Given the description of an element on the screen output the (x, y) to click on. 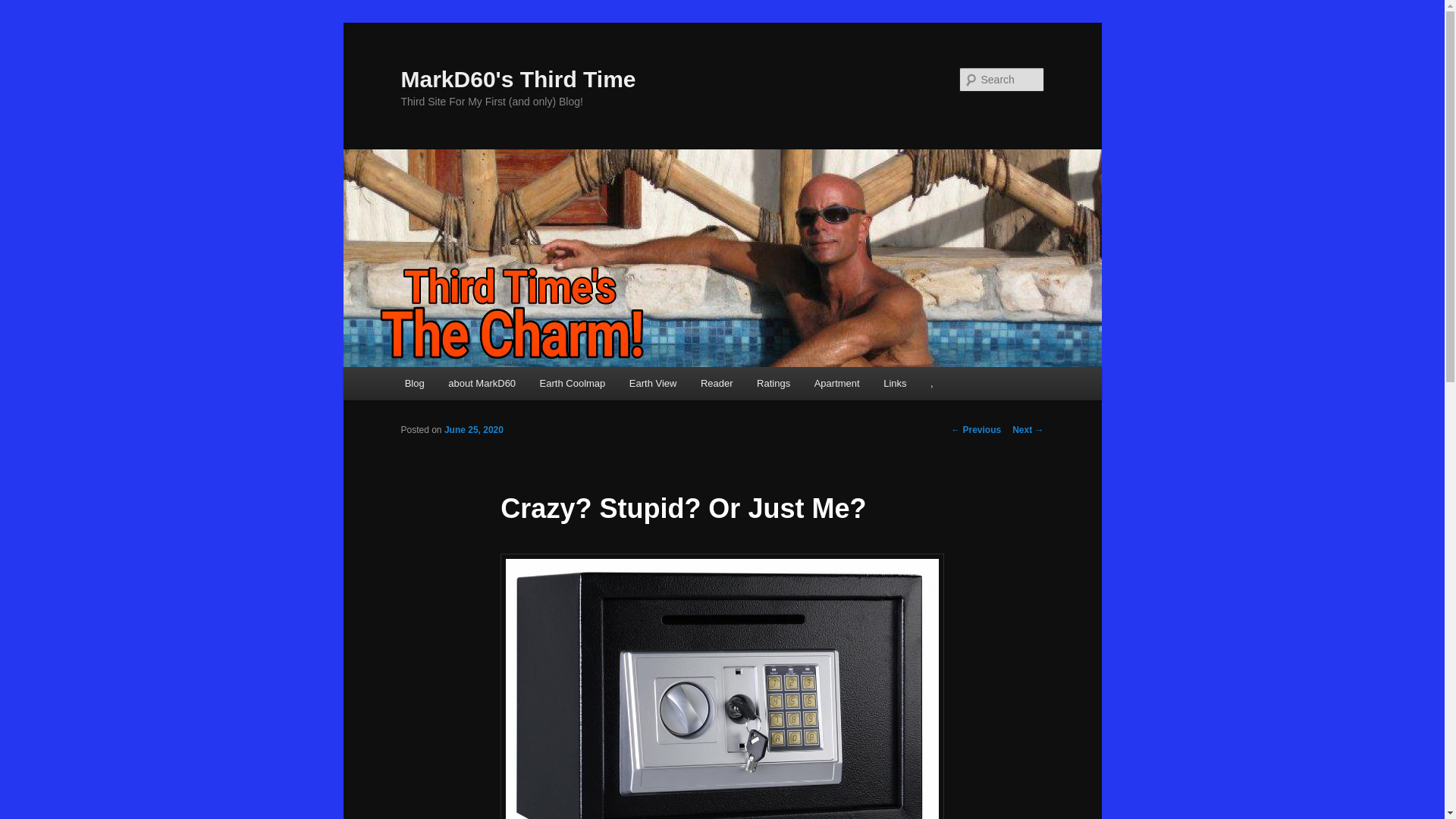
Blog (414, 382)
MarkD60's Third Time (517, 78)
Apartment (836, 382)
Search (24, 8)
about MarkD60 (481, 382)
Reader (716, 382)
Earth View (652, 382)
Earth Coolmap (572, 382)
June 25, 2020 (473, 429)
6:16 am (473, 429)
Links (894, 382)
Ratings (773, 382)
